Given the description of an element on the screen output the (x, y) to click on. 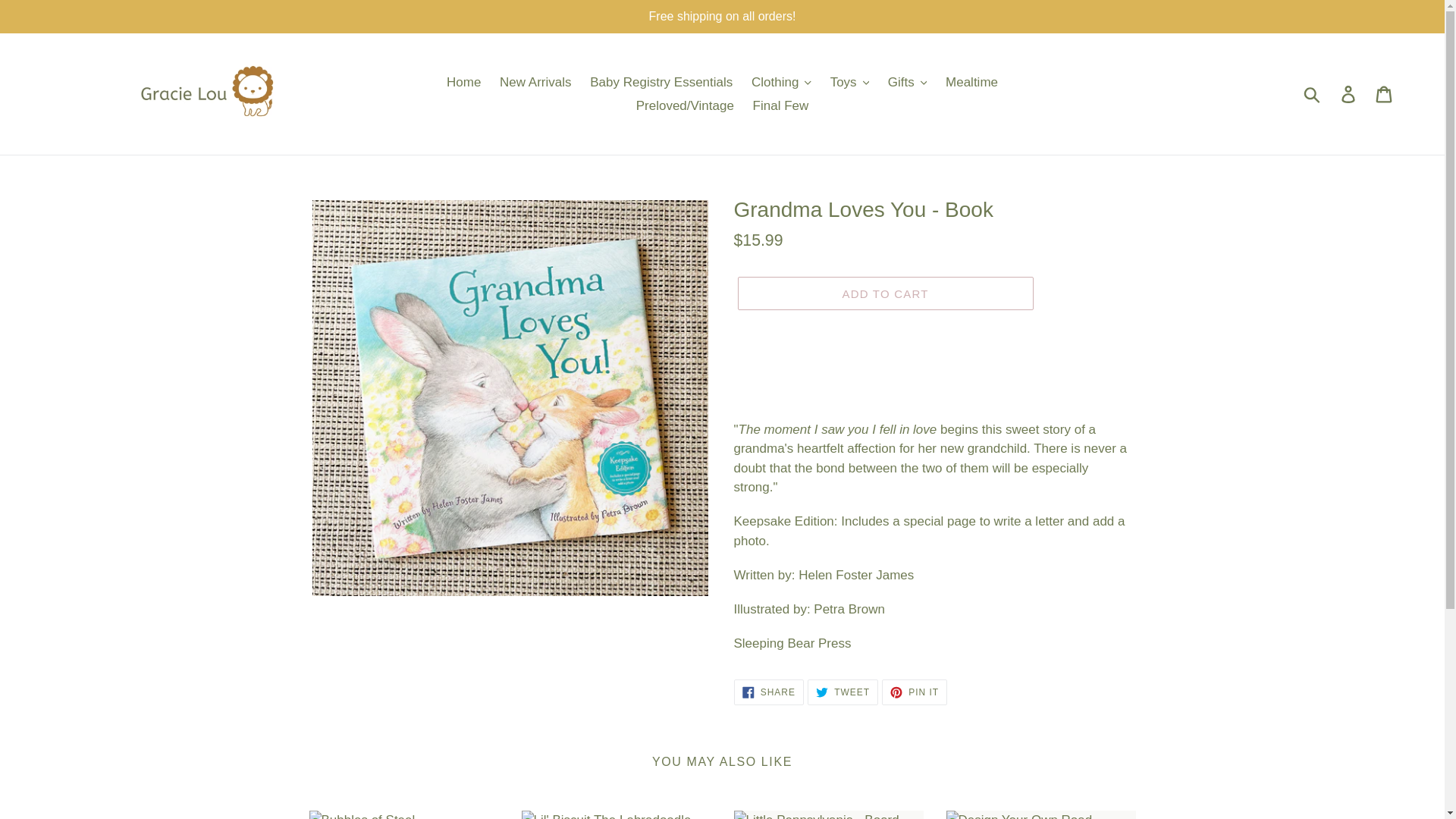
Cart (1385, 93)
Final Few (780, 105)
Log in (1349, 93)
Mealtime (971, 81)
New Arrivals (535, 81)
Baby Registry Essentials (660, 81)
Home (463, 81)
Submit (1313, 93)
